Given the description of an element on the screen output the (x, y) to click on. 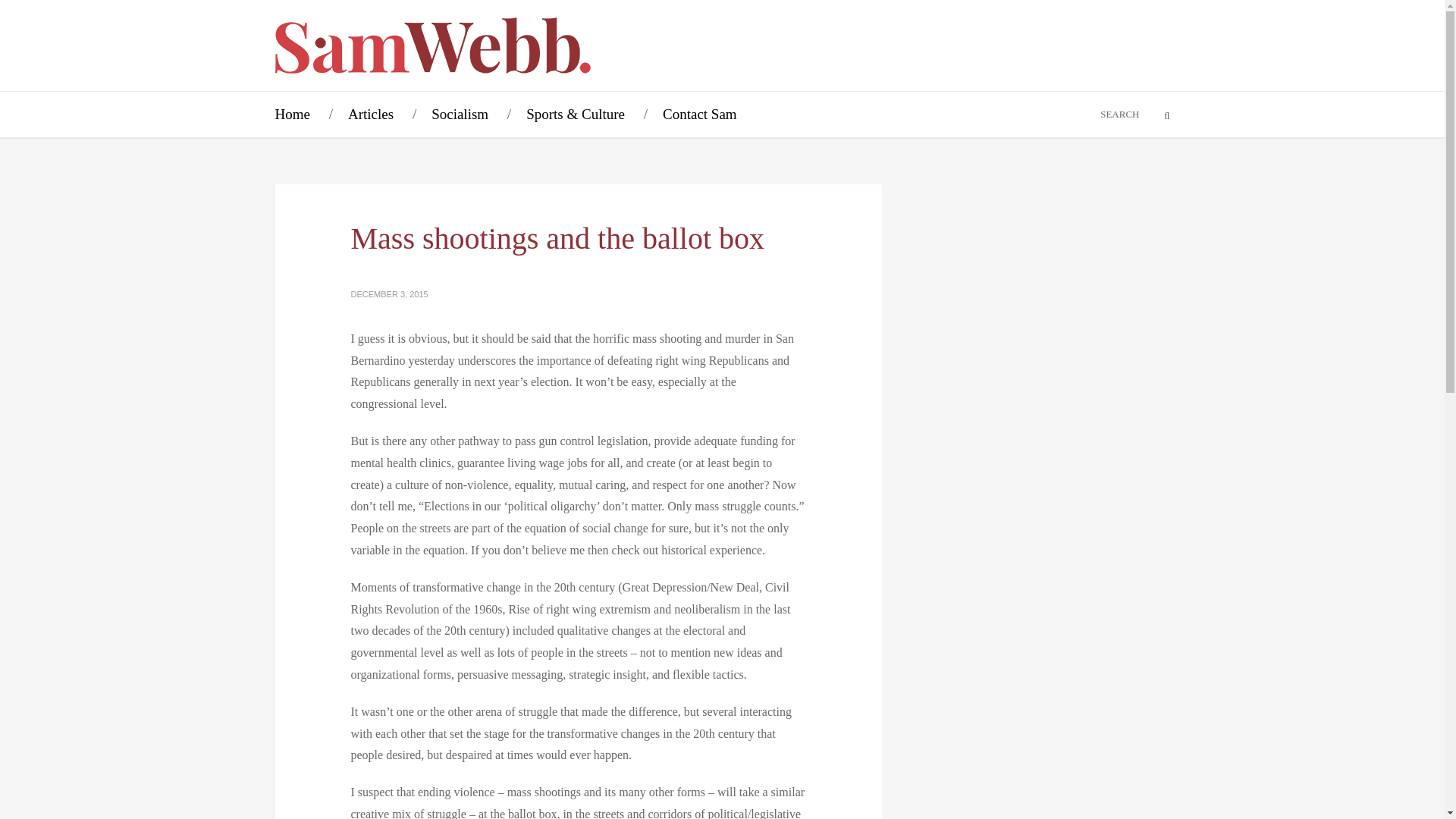
Socialism (458, 114)
SEARCH (1096, 114)
Home (291, 114)
Articles (370, 114)
Contact Sam (699, 114)
Search (1158, 115)
